Given the description of an element on the screen output the (x, y) to click on. 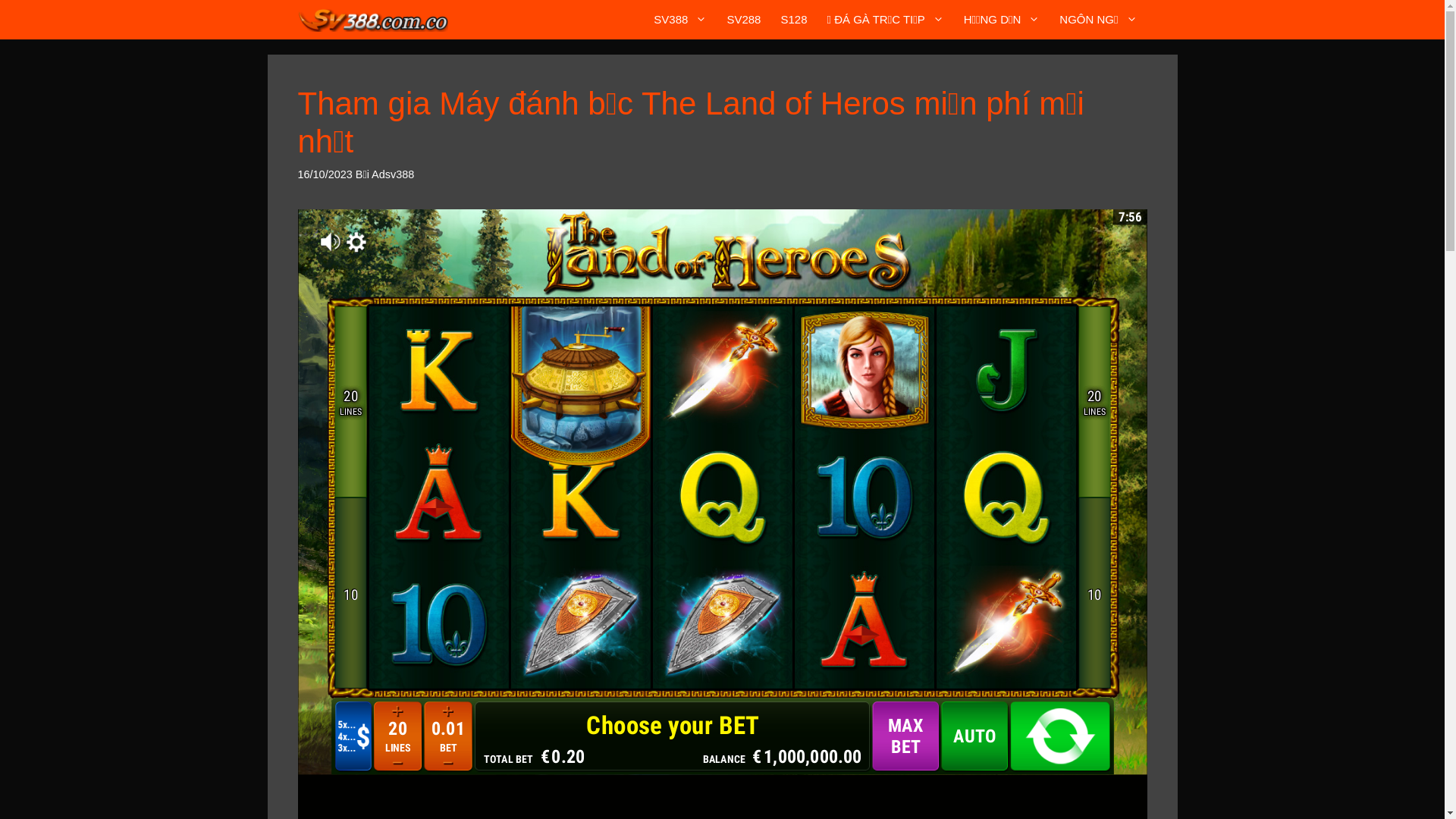
Sv388 Element type: hover (372, 19)
SV288 Element type: text (743, 19)
Adsv388 Element type: text (392, 174)
S128 Element type: text (793, 19)
SV388 Element type: text (679, 19)
